Given the description of an element on the screen output the (x, y) to click on. 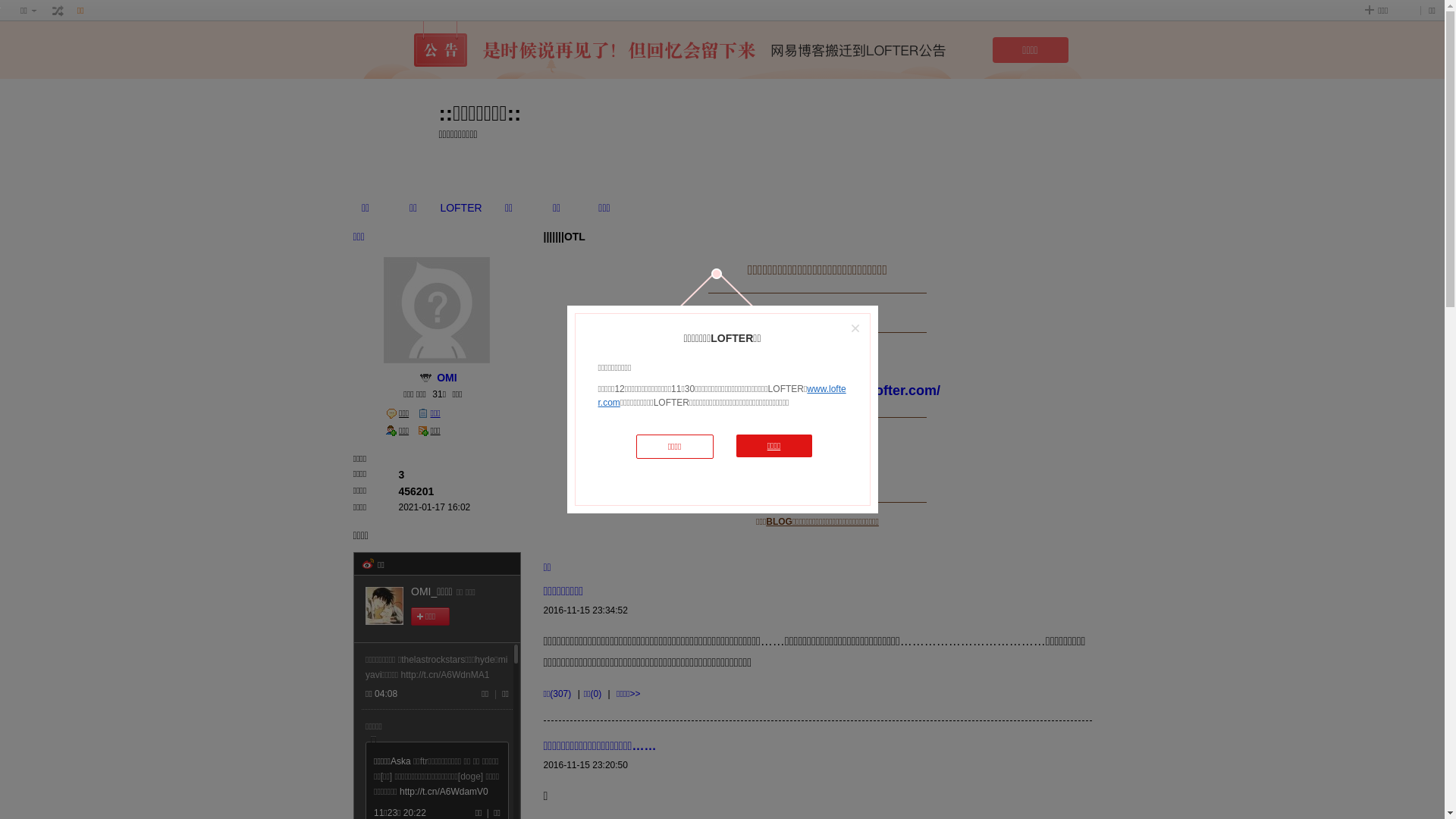
OMI Element type: text (446, 377)
LOFTER Element type: text (460, 207)
  Element type: text (58, 10)
www.lofter.com Element type: text (721, 395)
  Element type: text (425, 377)
http://mitsukiomi.lofter.com/ Element type: text (848, 391)
